Given the description of an element on the screen output the (x, y) to click on. 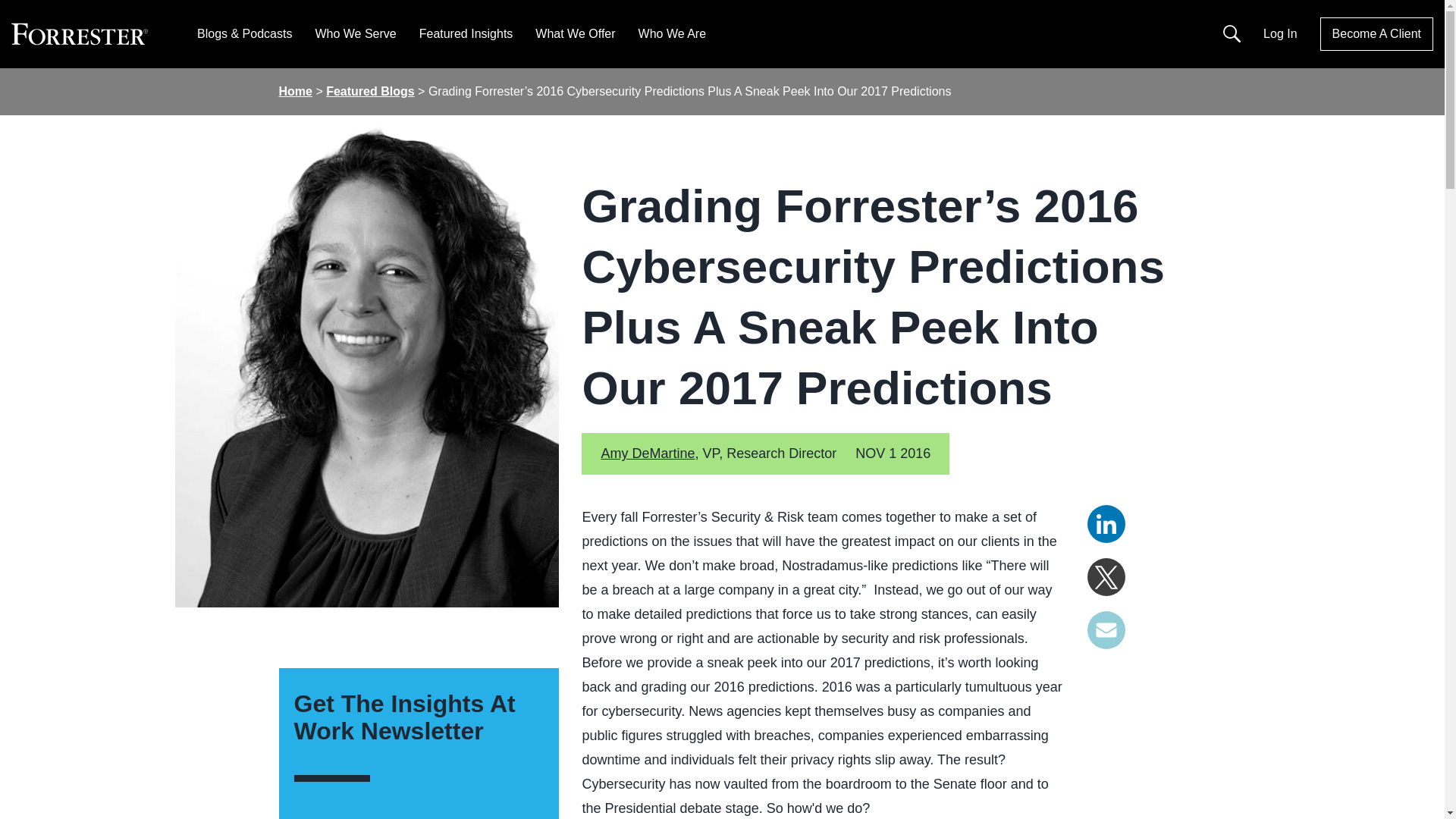
Featured Insights (466, 33)
What We Offer (574, 33)
Posts by Amy DeMartine (646, 453)
Who We Serve (355, 33)
